Given the description of an element on the screen output the (x, y) to click on. 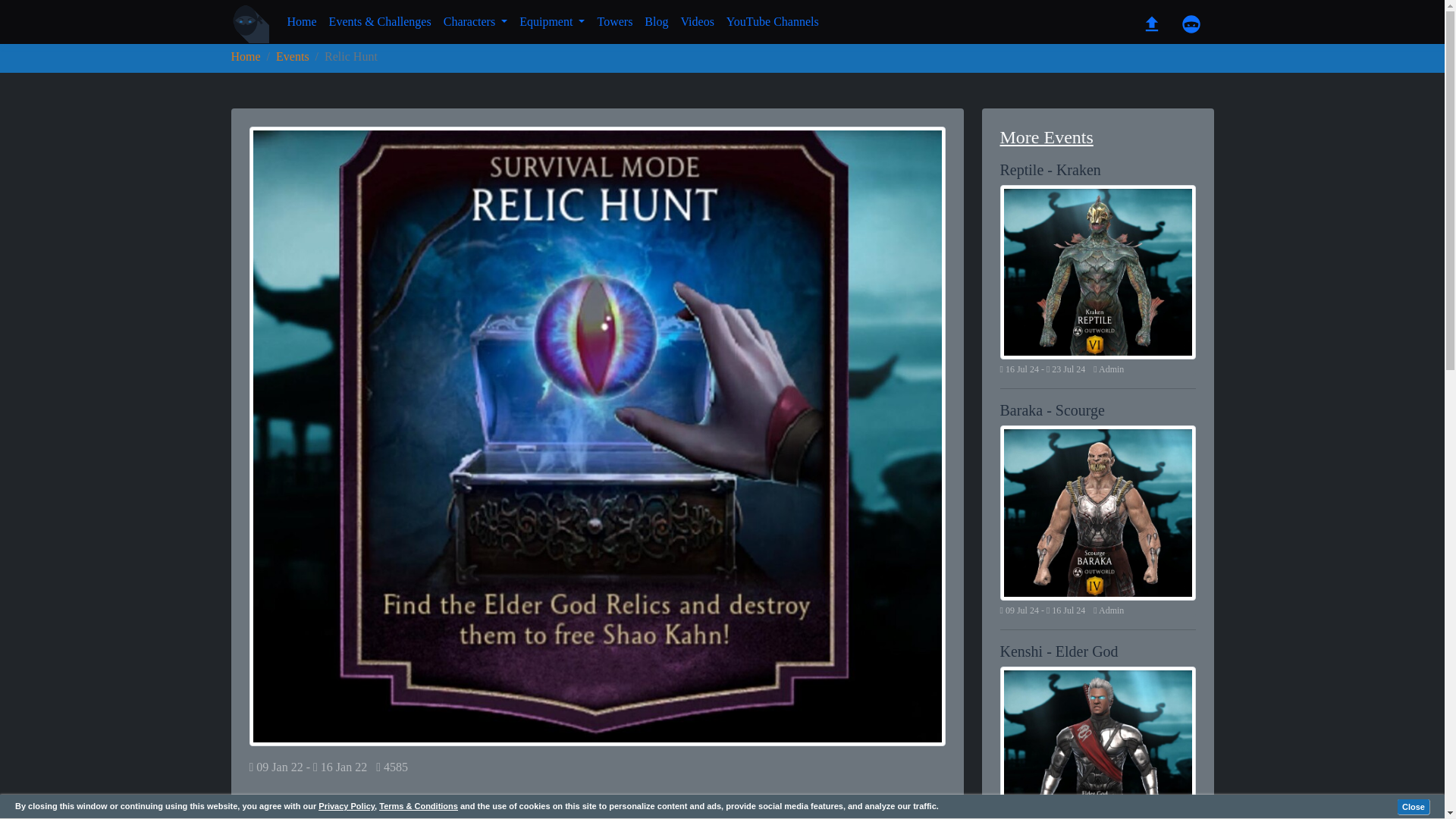
Home (301, 21)
Characters (475, 21)
Home (245, 56)
Towers (615, 21)
Events (292, 56)
Blog (656, 21)
YouTube Channels (772, 21)
Equipment (552, 21)
Privacy Policy (346, 805)
Videos (696, 21)
Close (1413, 806)
